Given the description of an element on the screen output the (x, y) to click on. 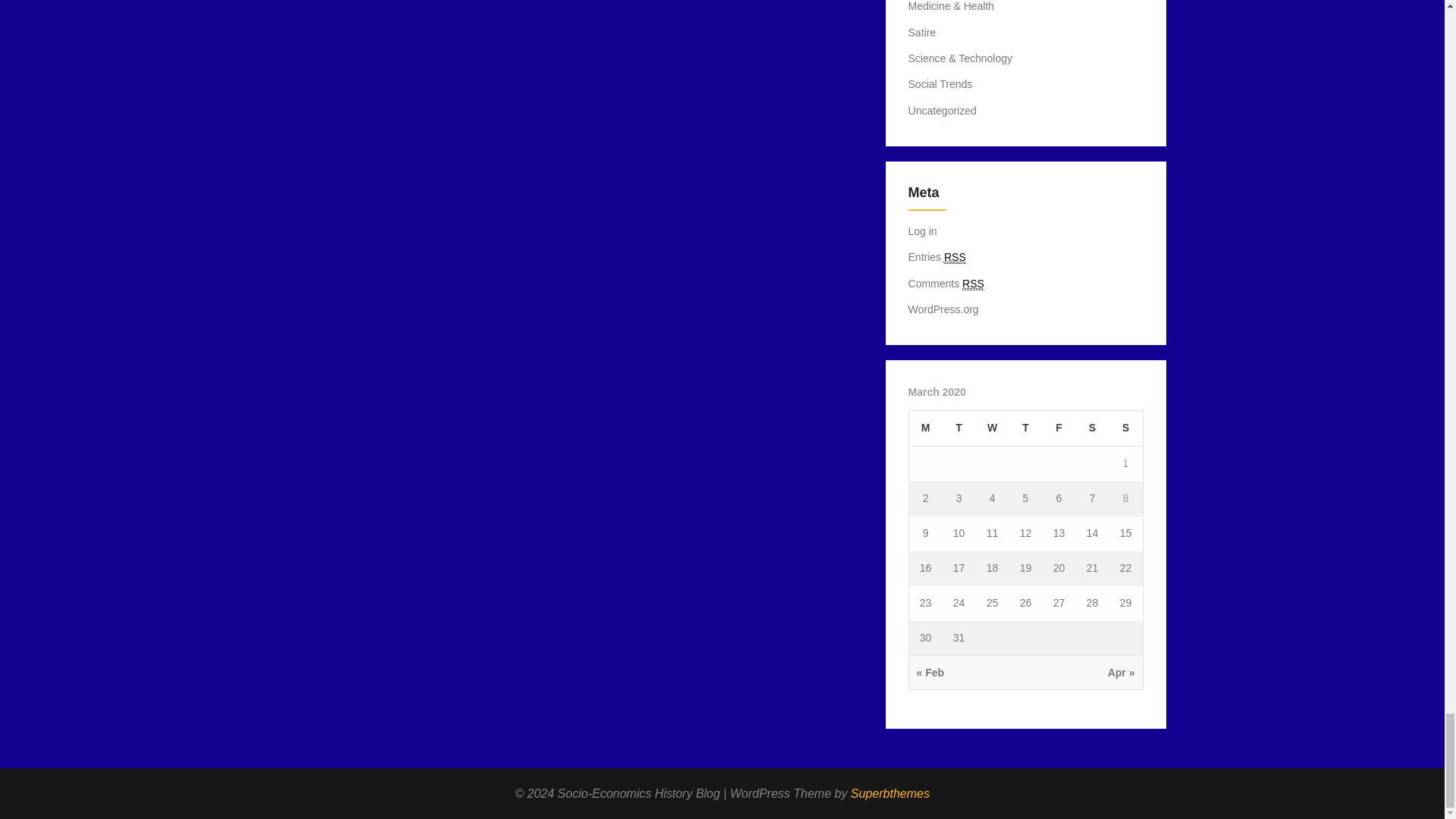
Friday (1058, 428)
Really Simple Syndication (954, 256)
Saturday (1091, 428)
Sunday (1125, 428)
Monday (925, 428)
Wednesday (992, 428)
Tuesday (958, 428)
Thursday (1025, 428)
Really Simple Syndication (973, 283)
